Given the description of an element on the screen output the (x, y) to click on. 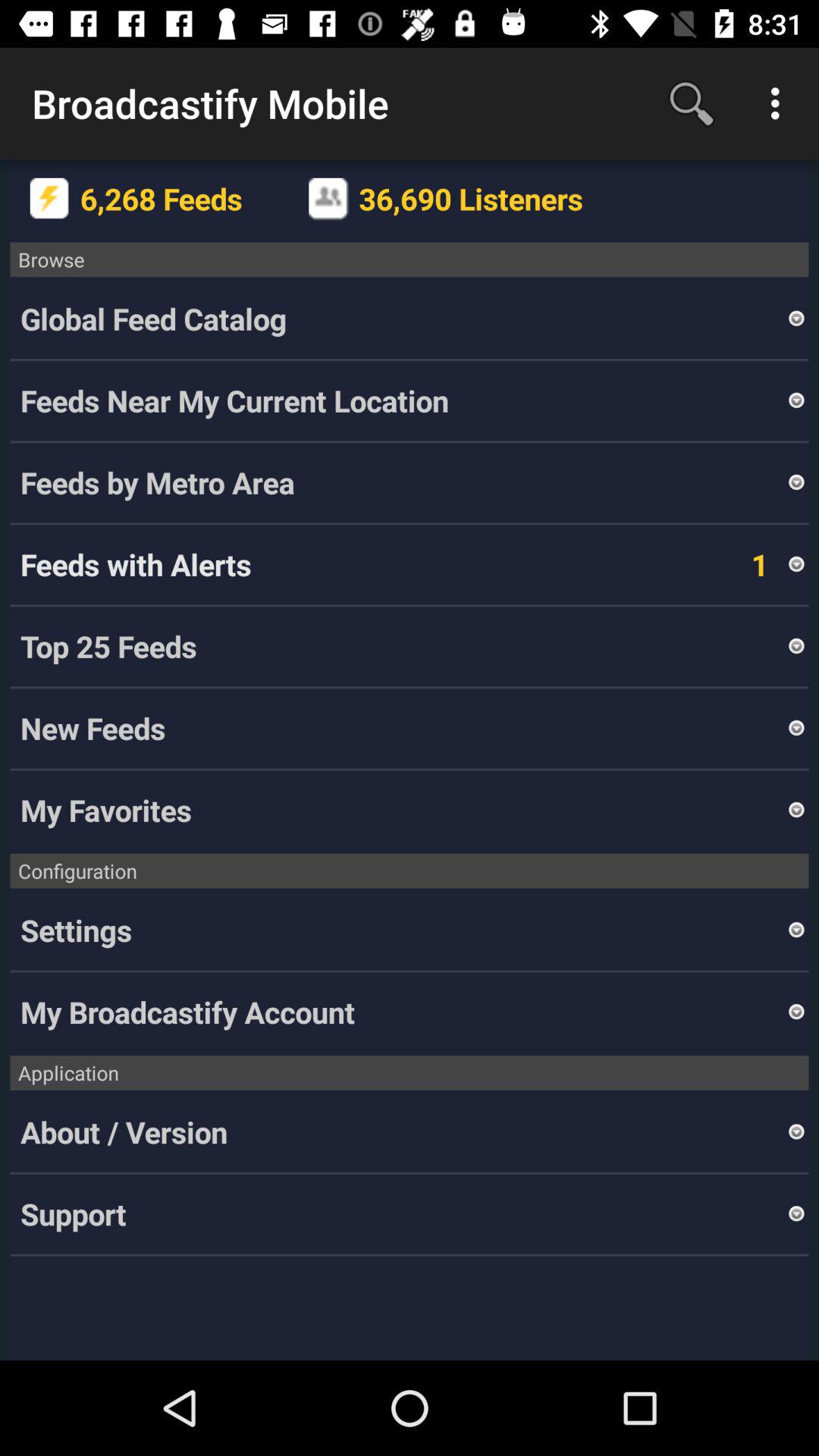
choose icon next to 6,268 feeds item (49, 199)
